Given the description of an element on the screen output the (x, y) to click on. 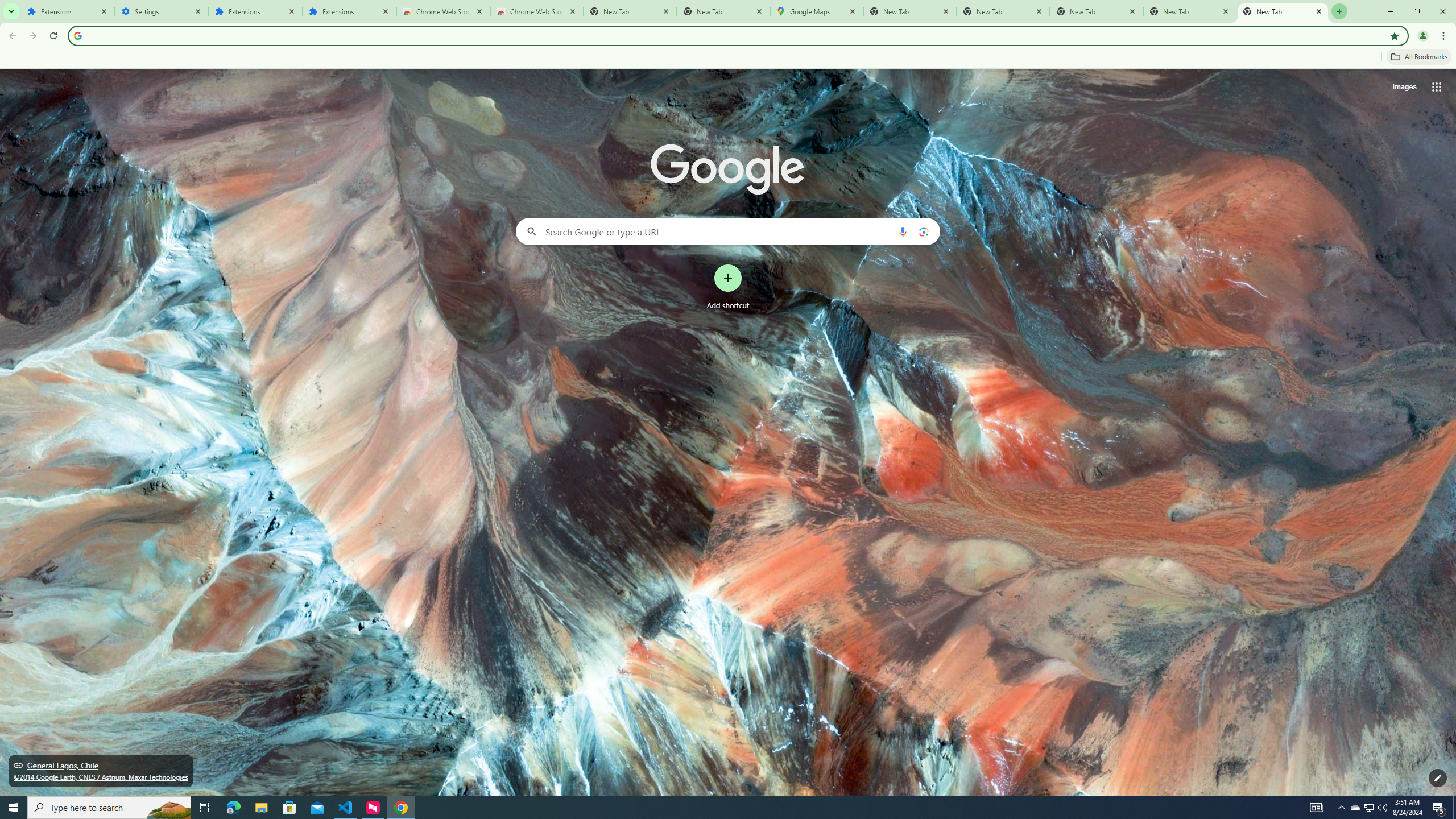
Bookmarks (728, 58)
Extensions (349, 11)
Settings (161, 11)
New Tab (722, 11)
